Given the description of an element on the screen output the (x, y) to click on. 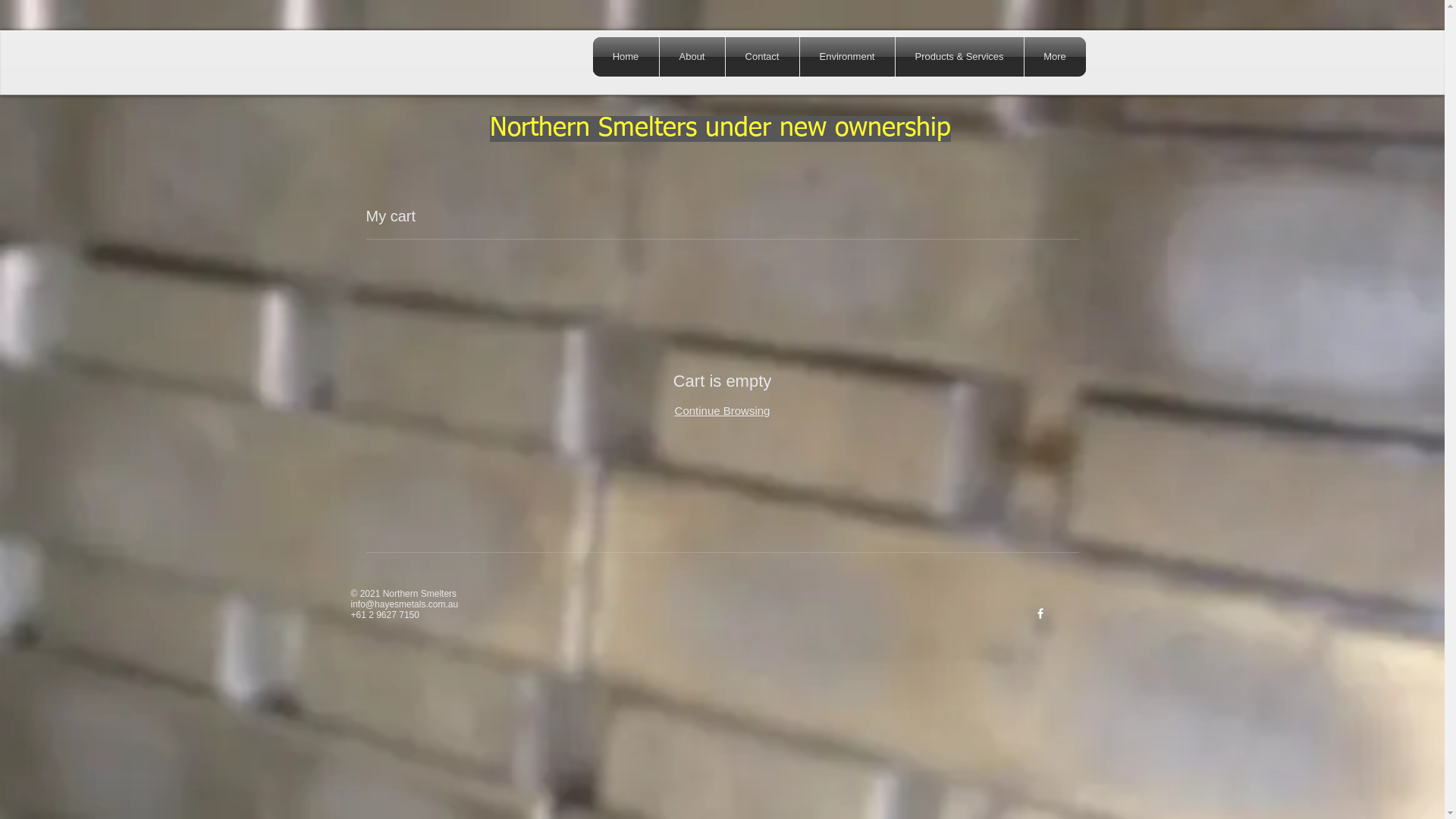
Continue Browsing Element type: text (722, 410)
Contact Element type: text (761, 56)
Environment Element type: text (846, 56)
About Element type: text (691, 56)
Products & Services Element type: text (958, 56)
Home Element type: text (625, 56)
info@hayesmetals.com.au Element type: text (404, 604)
